Given the description of an element on the screen output the (x, y) to click on. 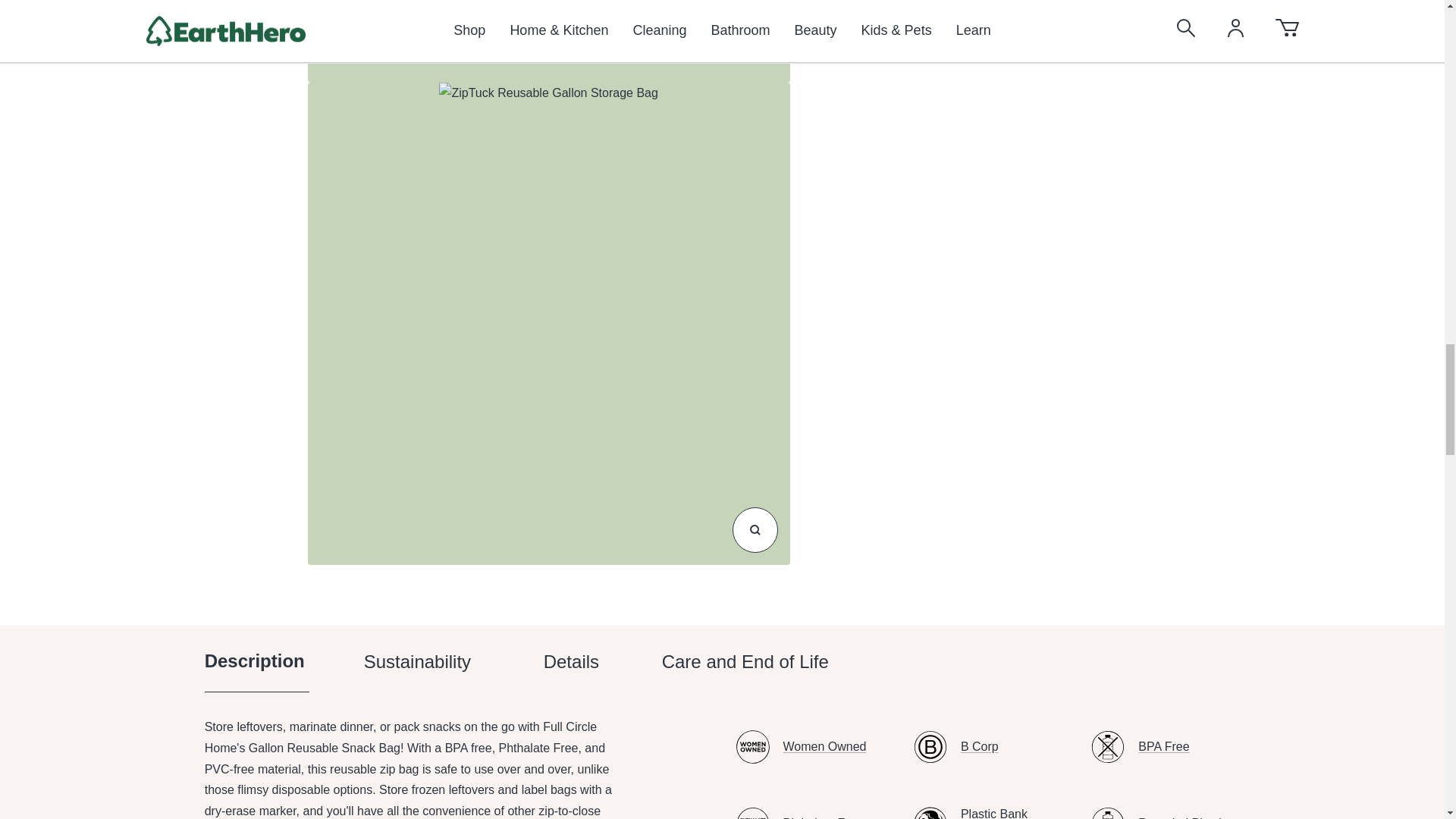
Zoom (722, 670)
